Given the description of an element on the screen output the (x, y) to click on. 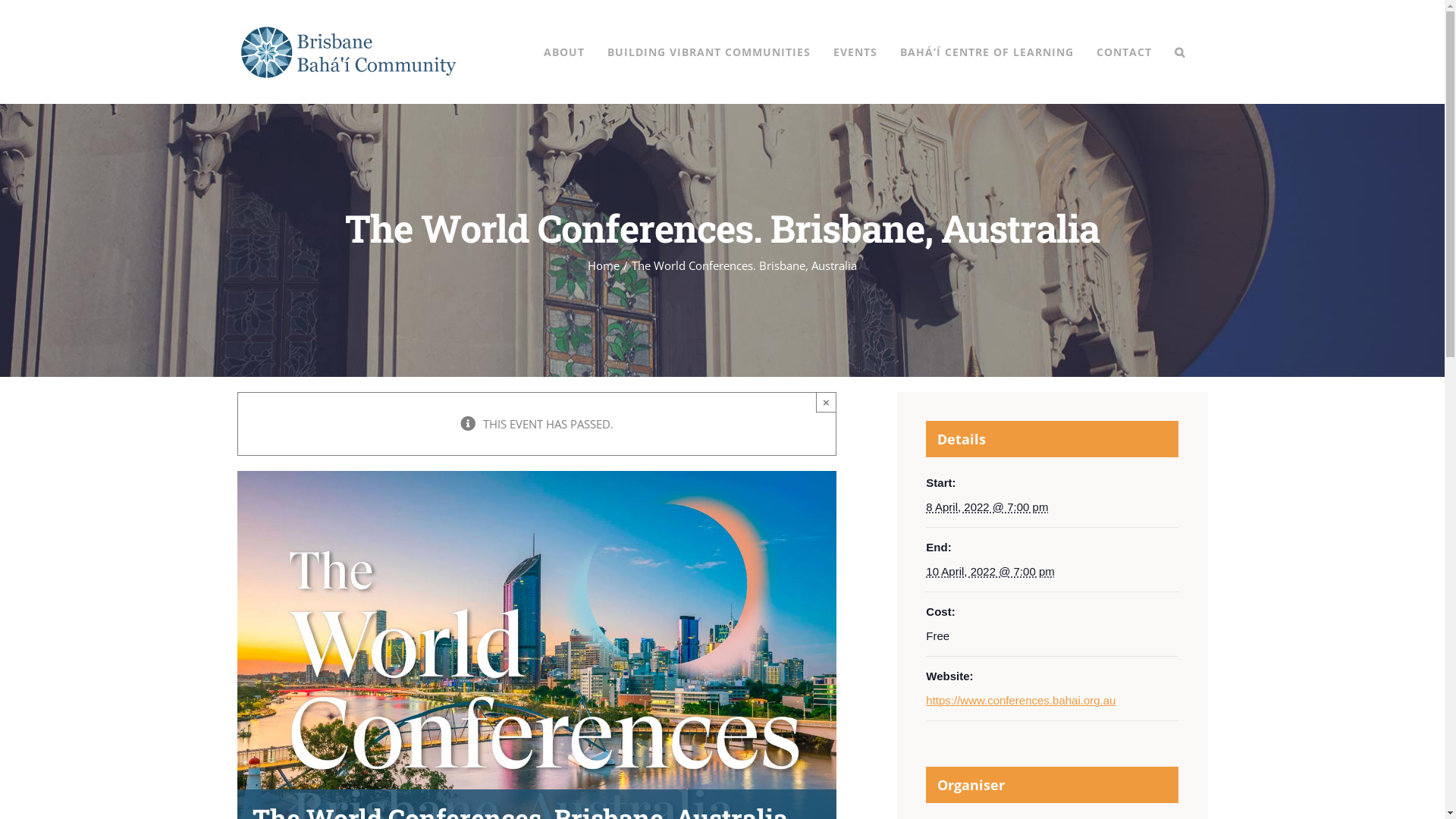
Home Element type: text (603, 265)
https://www.conferences.bahai.org.au Element type: text (1020, 699)
EVENTS Element type: text (854, 51)
BUILDING VIBRANT COMMUNITIES Element type: text (707, 51)
Search Element type: hover (1178, 51)
CONTACT Element type: text (1123, 51)
ABOUT Element type: text (562, 51)
